Given the description of an element on the screen output the (x, y) to click on. 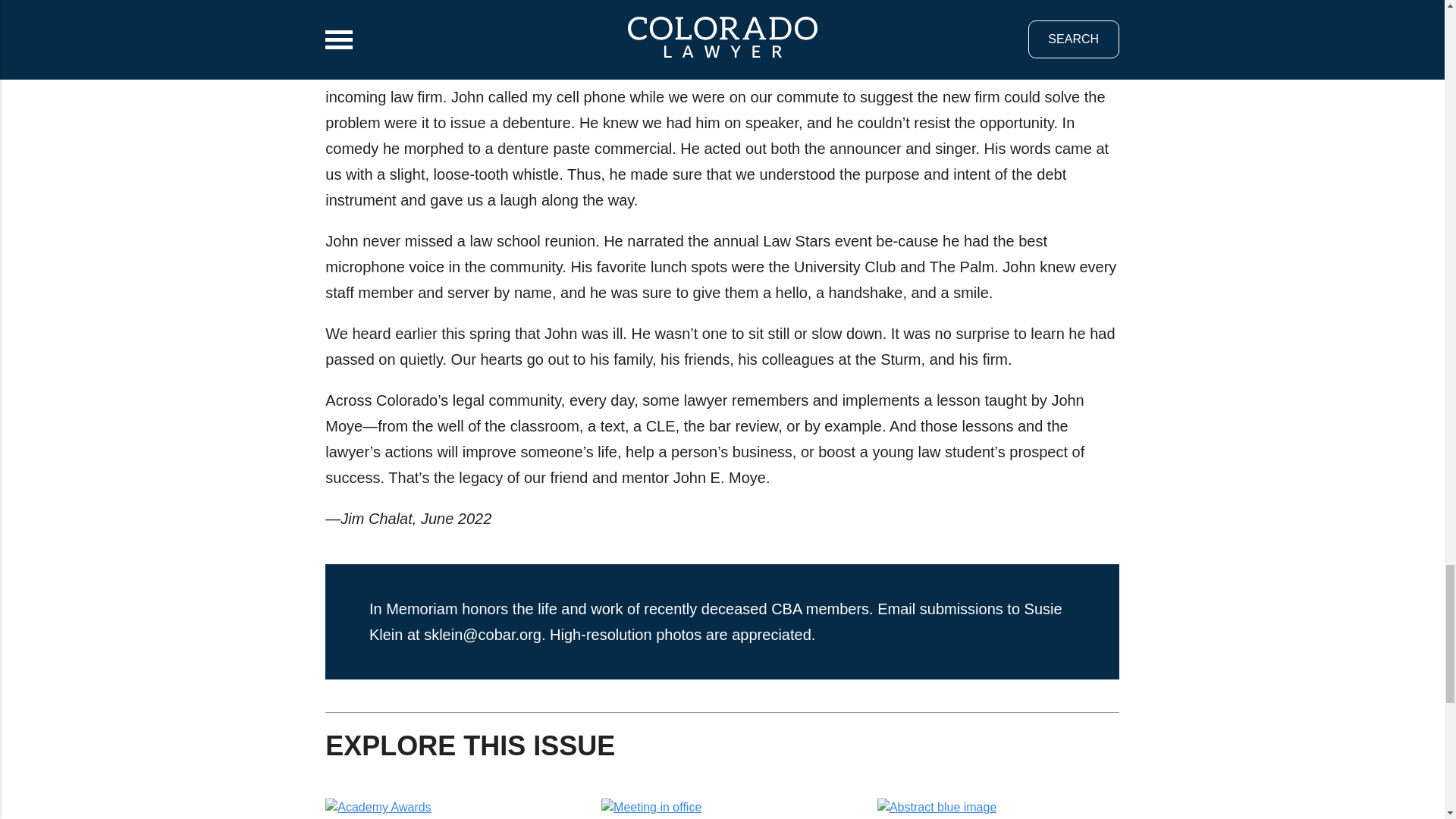
OSHA is Knocking (681, 817)
